Given the description of an element on the screen output the (x, y) to click on. 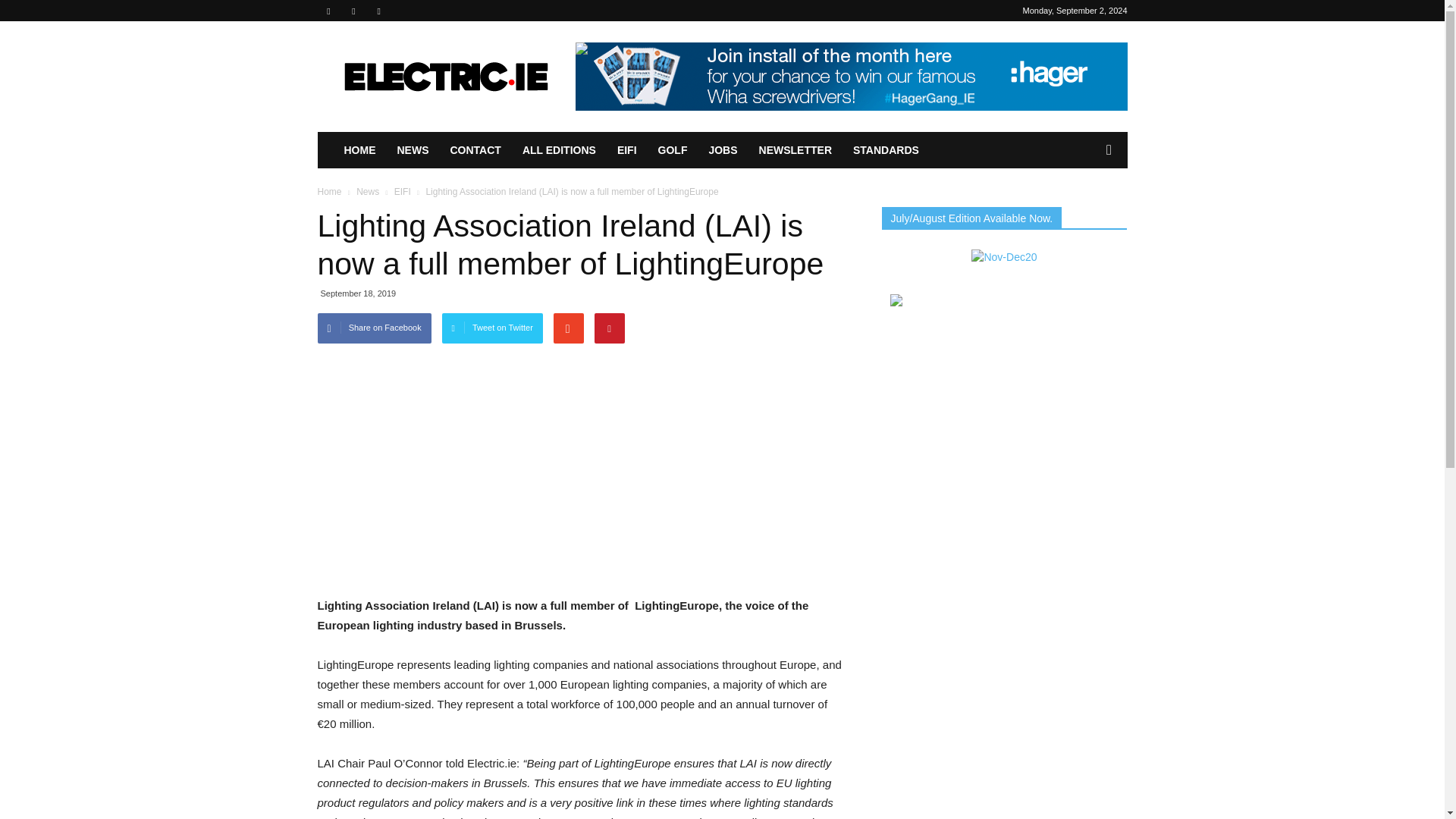
NEWS (413, 149)
JOBS (722, 149)
Electric.ie (445, 76)
Twitter (379, 10)
ALL EDITIONS (559, 149)
Facebook (328, 10)
View all posts in EIFI (402, 191)
CONTACT (475, 149)
HOME (360, 149)
STANDARDS (886, 149)
